Given the description of an element on the screen output the (x, y) to click on. 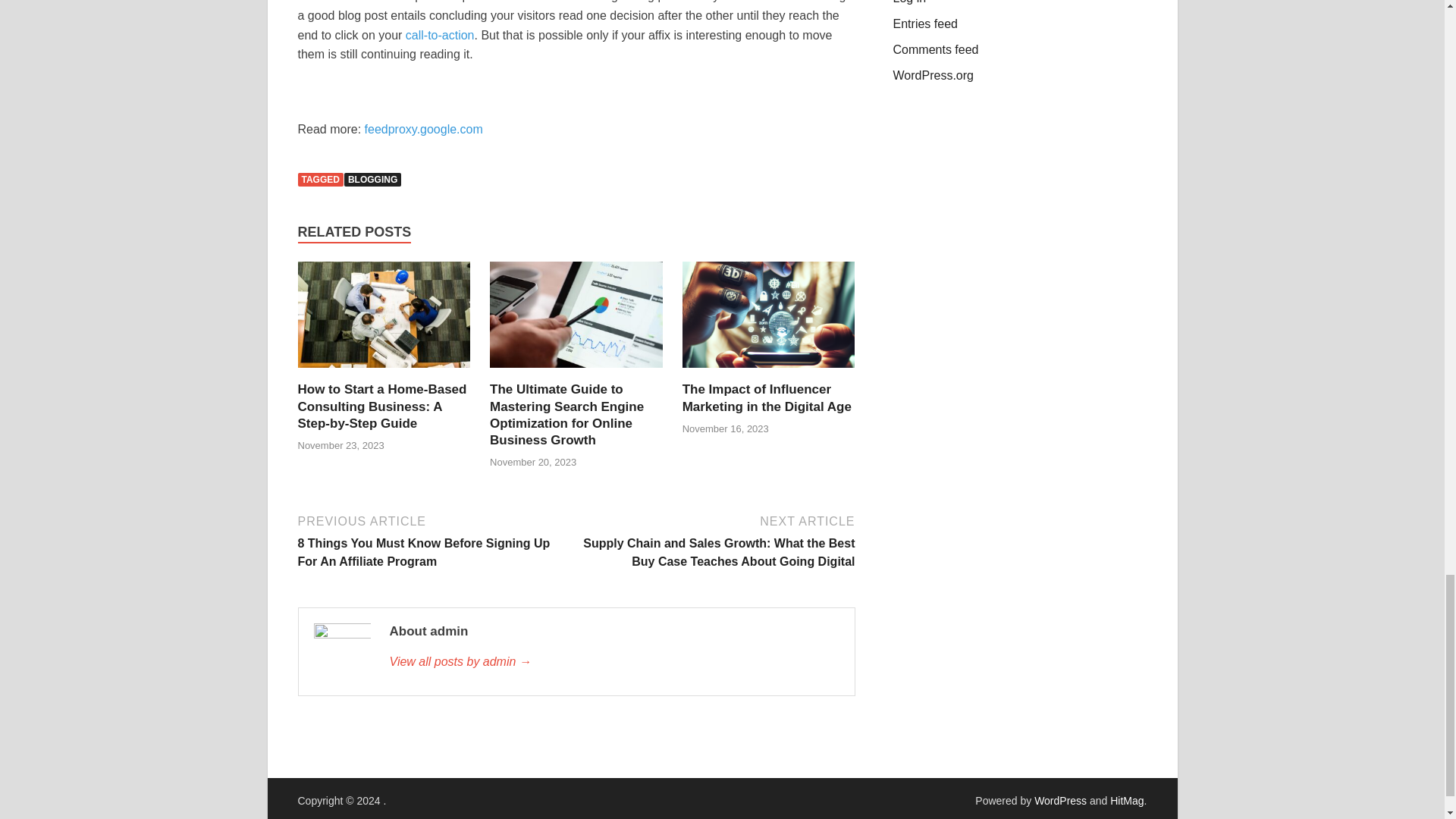
WordPress (1059, 800)
The Impact of Influencer Marketing in the Digital Age (769, 371)
BLOGGING (372, 179)
call-to-action (440, 34)
admin (615, 661)
The Impact of Influencer Marketing in the Digital Age (766, 397)
HitMag WordPress Theme (1125, 800)
